Given the description of an element on the screen output the (x, y) to click on. 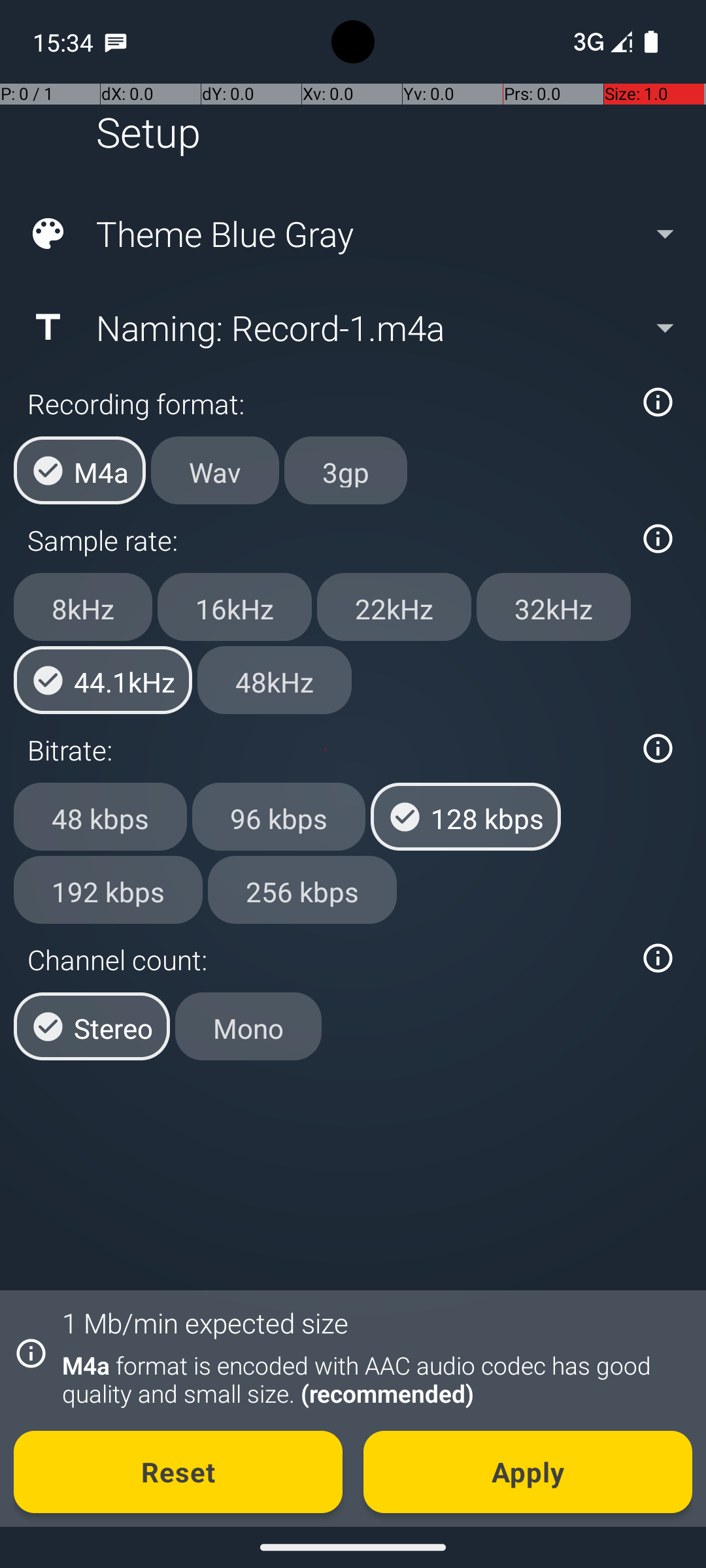
M4a format is encoded with AAC audio codec has good quality and small size. (recommended) Element type: android.widget.TextView (370, 1378)
SMS Messenger notification: Petar Gonzalez Element type: android.widget.ImageView (115, 41)
Phone two bars. Element type: android.widget.FrameLayout (600, 41)
